Given the description of an element on the screen output the (x, y) to click on. 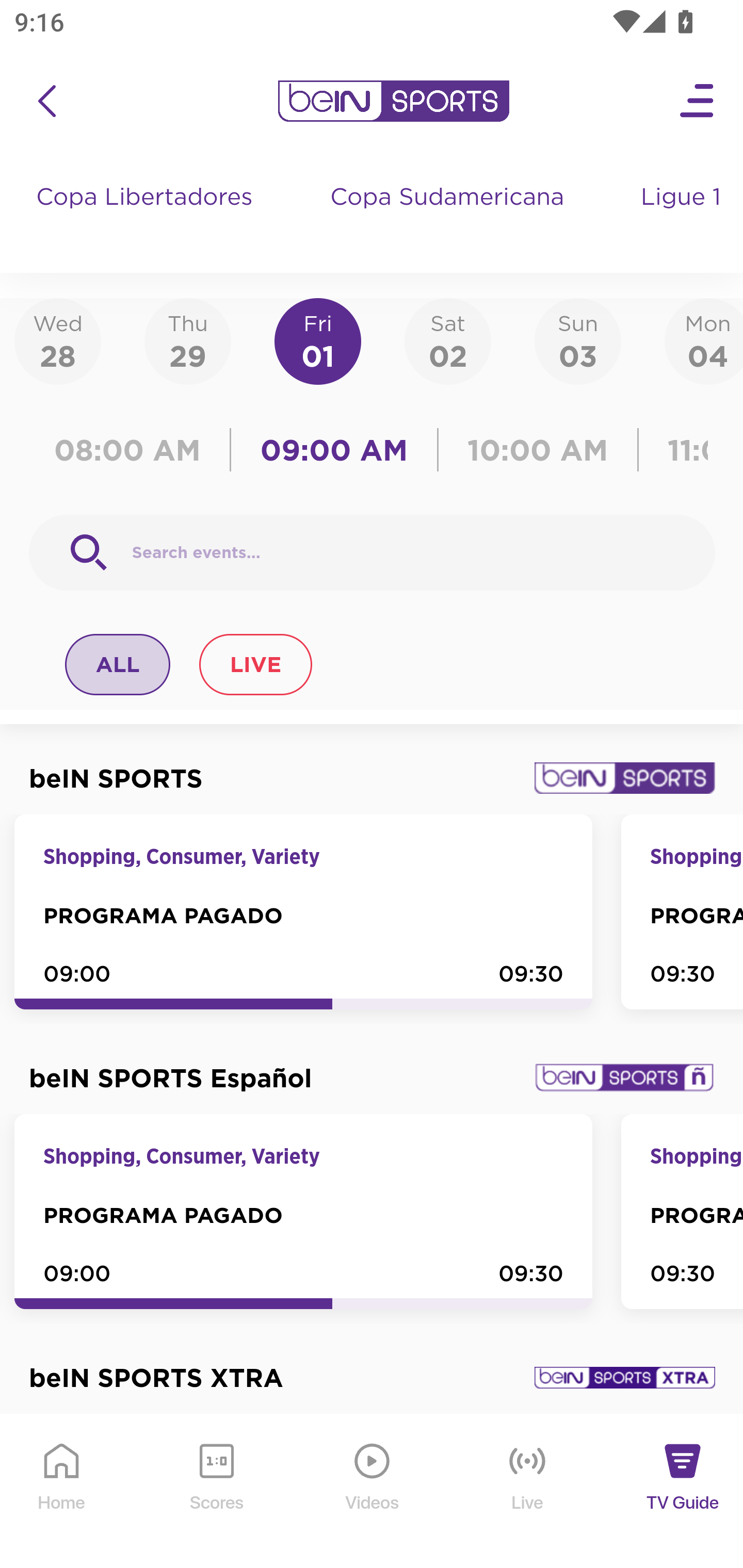
en-us?platform=mobile_android bein logo (392, 101)
icon back (46, 101)
Open Menu Icon (697, 101)
Copa Libertadores (146, 216)
Copa Sudamericana (448, 216)
Ligue 1 (682, 216)
Wed28 (58, 340)
Thu29 (187, 340)
Fri01 (318, 340)
Sat02 (447, 340)
Sun03 (578, 340)
Mon04 (703, 340)
08:00 AM (134, 449)
09:00 AM (334, 449)
10:00 AM (537, 449)
ALL (118, 663)
LIVE (255, 663)
Home Home Icon Home (61, 1491)
Scores Scores Icon Scores (216, 1491)
Videos Videos Icon Videos (372, 1491)
TV Guide TV Guide Icon TV Guide (682, 1491)
